Given the description of an element on the screen output the (x, y) to click on. 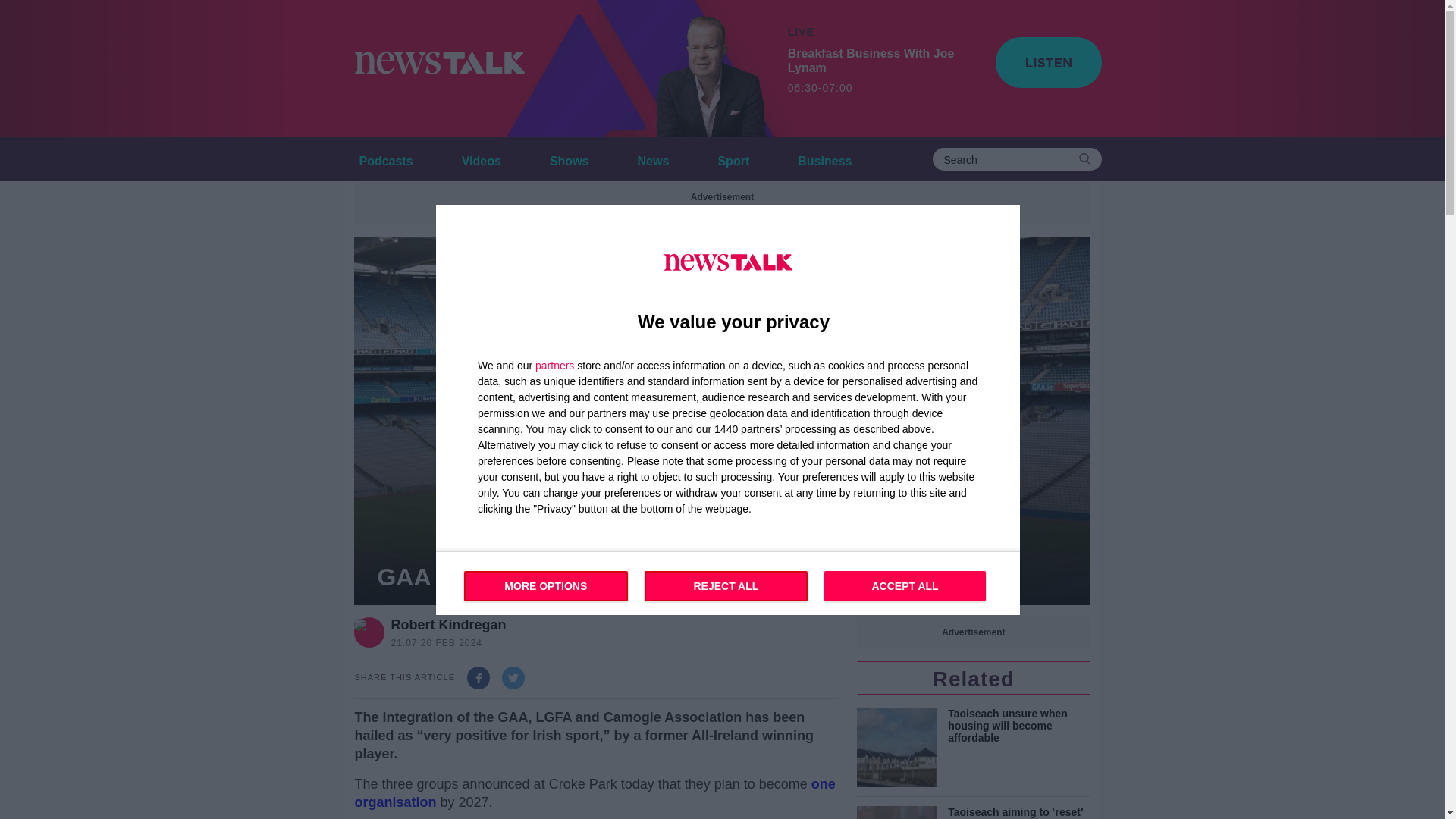
Breakfast Business With Joe Lynam (701, 68)
ACCEPT ALL (904, 585)
Business (824, 158)
Sport (733, 158)
News (653, 158)
Shows (569, 158)
Business (824, 158)
one organisation (593, 792)
MORE OPTIONS (545, 585)
News (653, 158)
Podcasts (727, 582)
Robert Kindregan (384, 158)
Videos (447, 624)
